Given the description of an element on the screen output the (x, y) to click on. 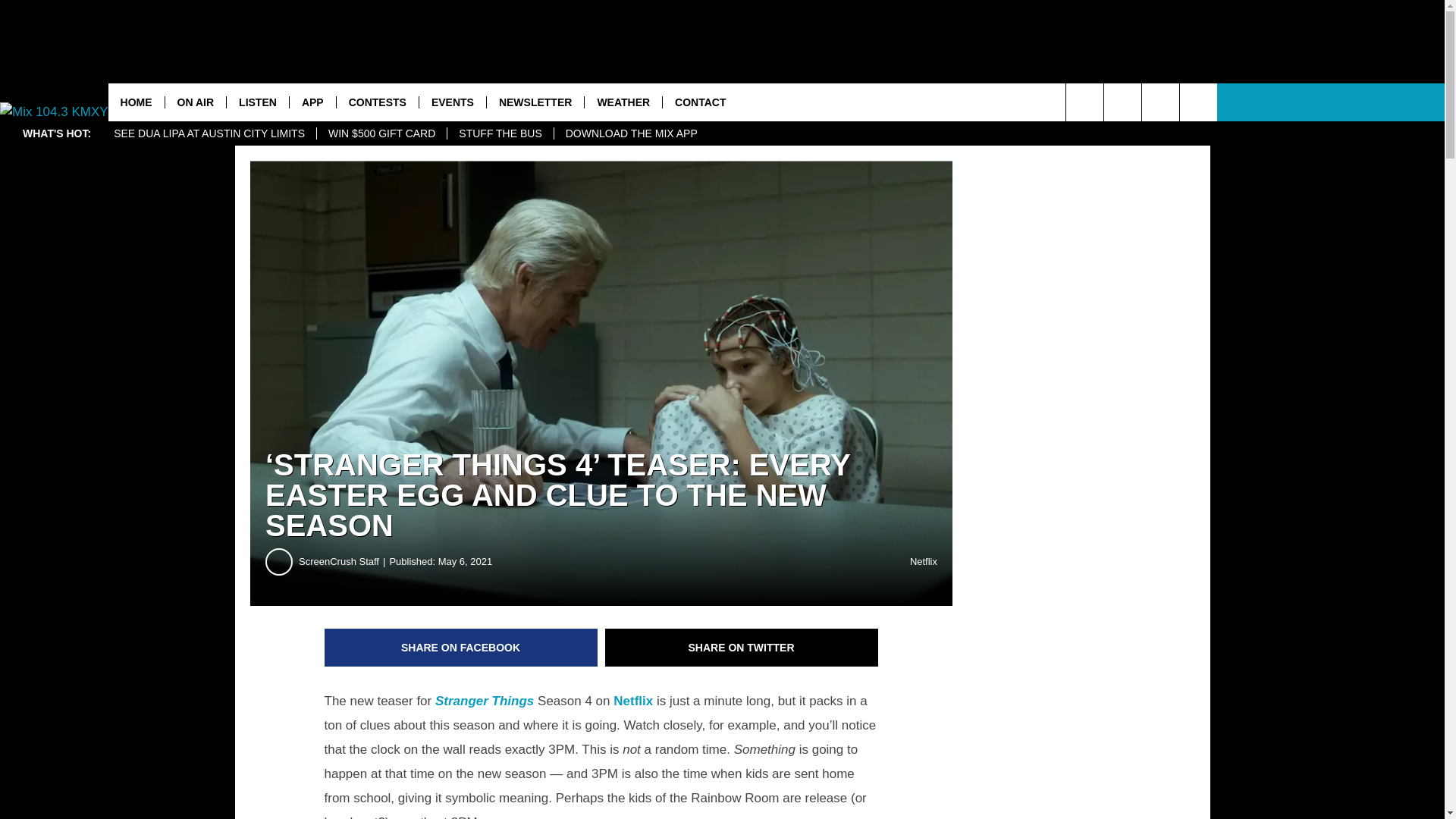
SEE DUA LIPA AT AUSTIN CITY LIMITS (208, 133)
APP (312, 102)
CONTACT (700, 102)
Share on Facebook (460, 647)
WEATHER (622, 102)
ON AIR (194, 102)
WHAT'S HOT: (56, 133)
CONTESTS (377, 102)
Share on Twitter (741, 647)
LISTEN (256, 102)
NEWSLETTER (534, 102)
DOWNLOAD THE MIX APP (631, 133)
EVENTS (452, 102)
STUFF THE BUS (499, 133)
HOME (135, 102)
